Given the description of an element on the screen output the (x, y) to click on. 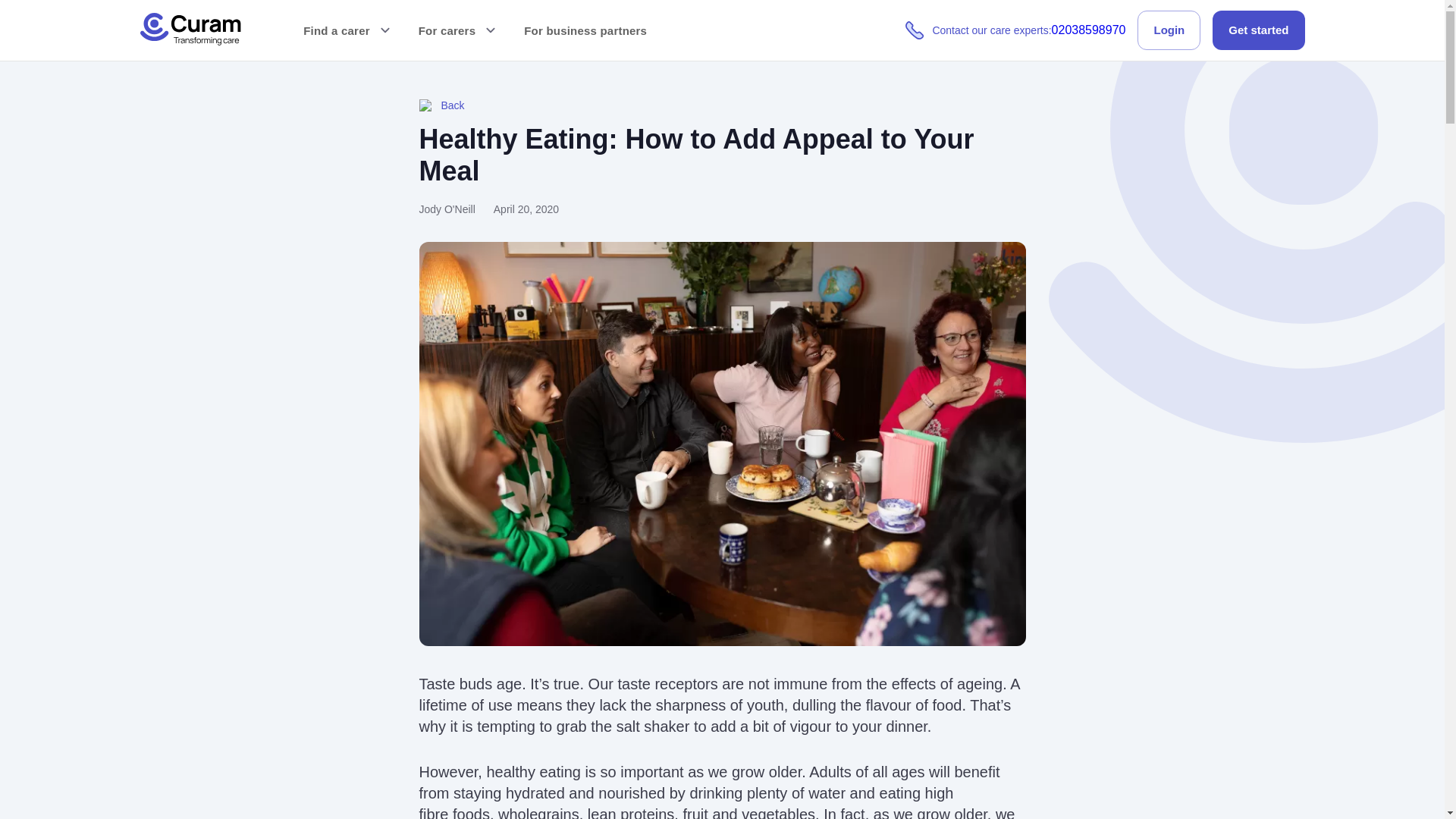
For carers (459, 30)
For business partners (585, 30)
Find a carer (348, 30)
Login (1015, 30)
